Given the description of an element on the screen output the (x, y) to click on. 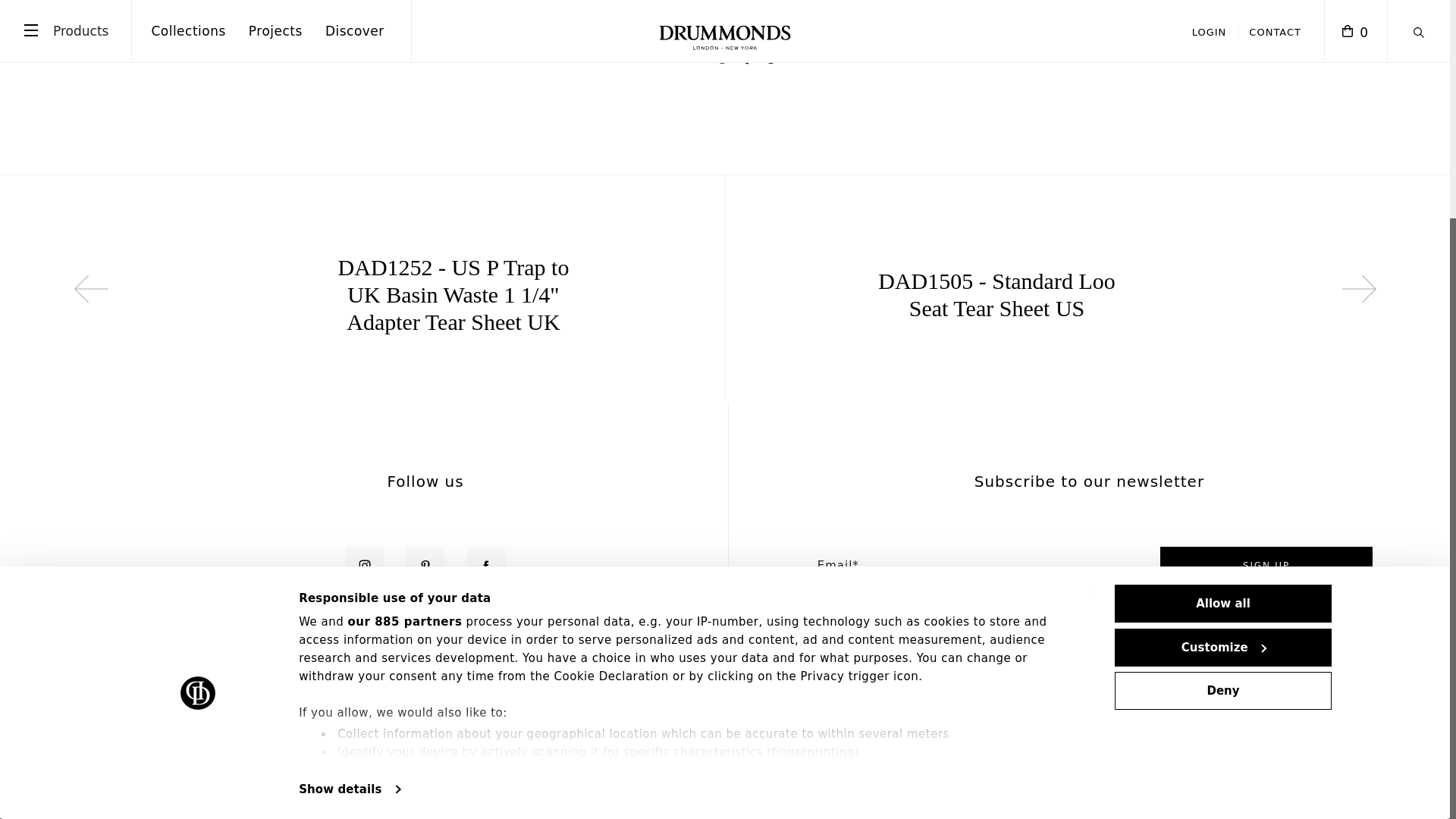
details section (894, 475)
Show details (348, 490)
our 885 partners (405, 323)
